Given the description of an element on the screen output the (x, y) to click on. 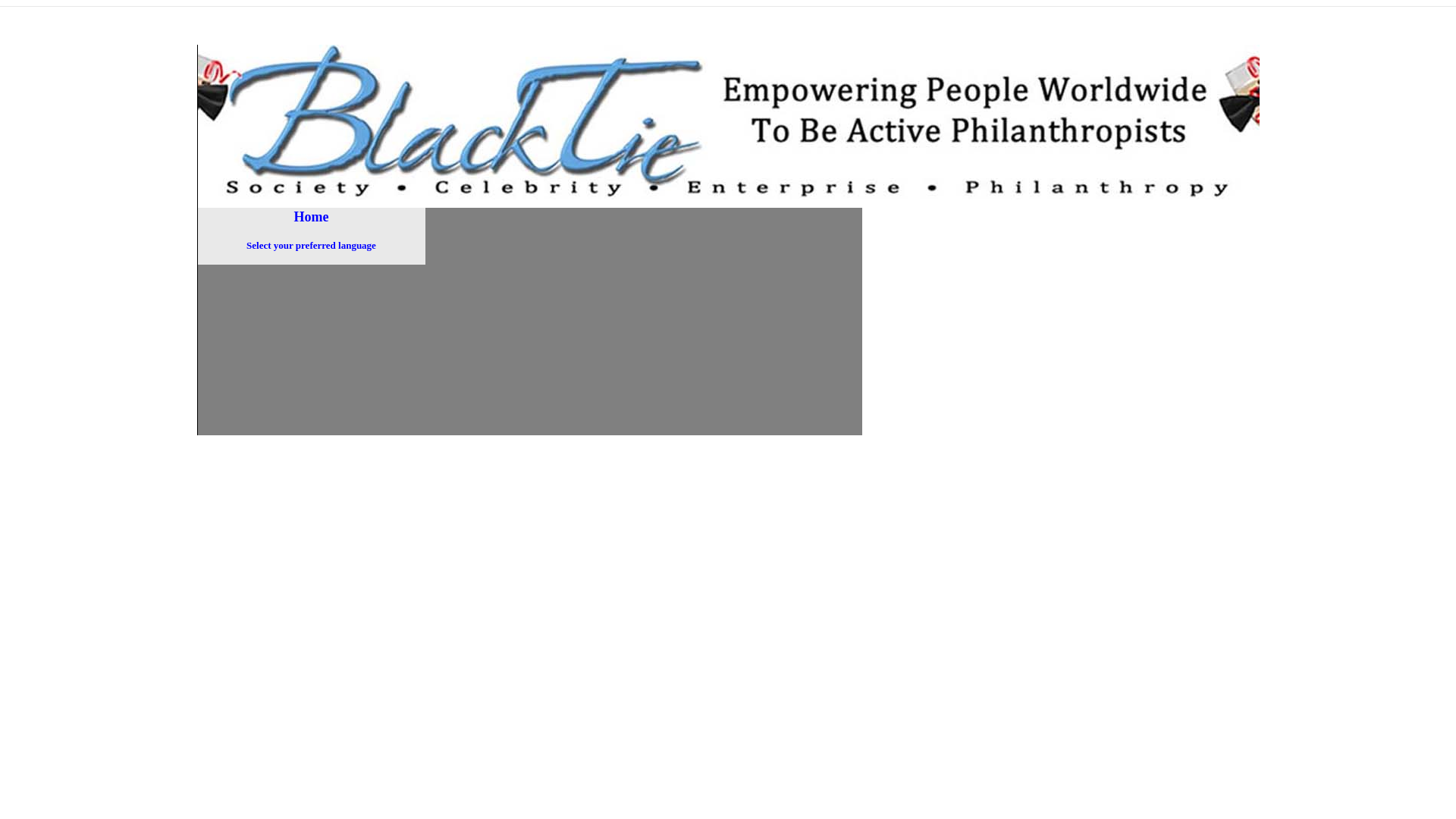
Home (311, 218)
